Given the description of an element on the screen output the (x, y) to click on. 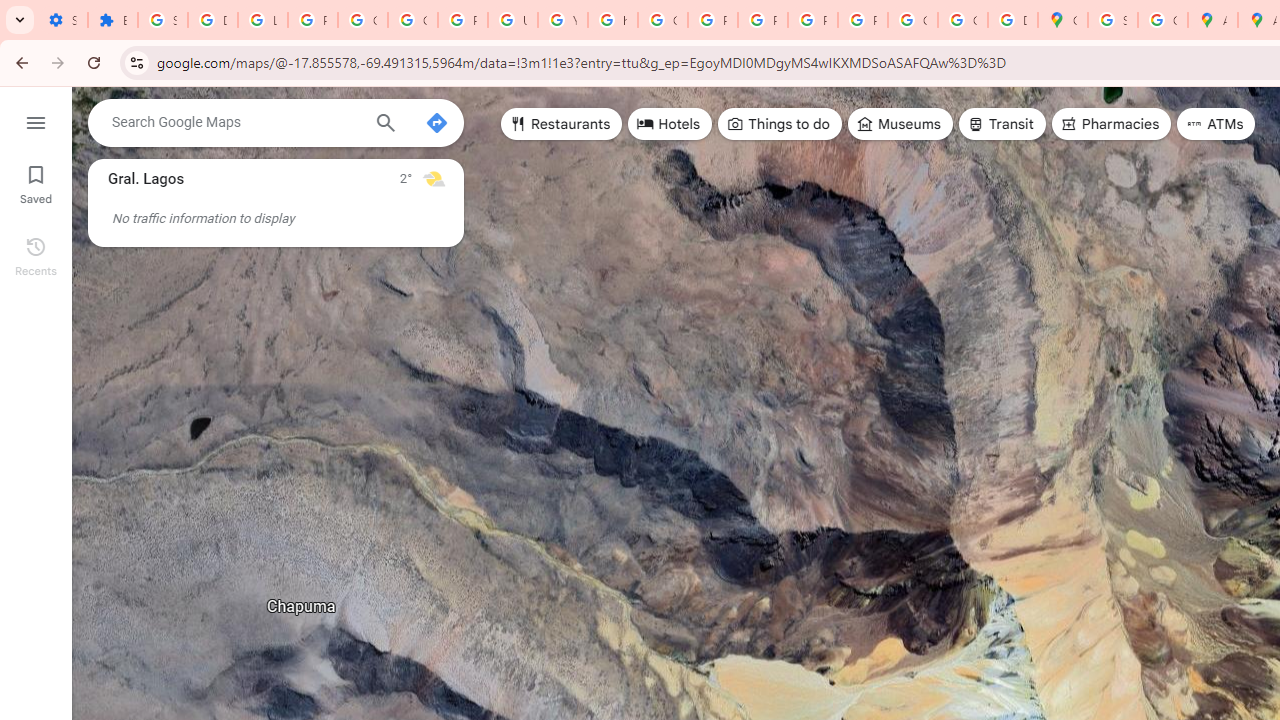
Recents (35, 254)
Pharmacies (1111, 124)
Learn how to find your photos - Google Photos Help (262, 20)
YouTube (562, 20)
Hotels (670, 124)
Museums (900, 124)
